Given the description of an element on the screen output the (x, y) to click on. 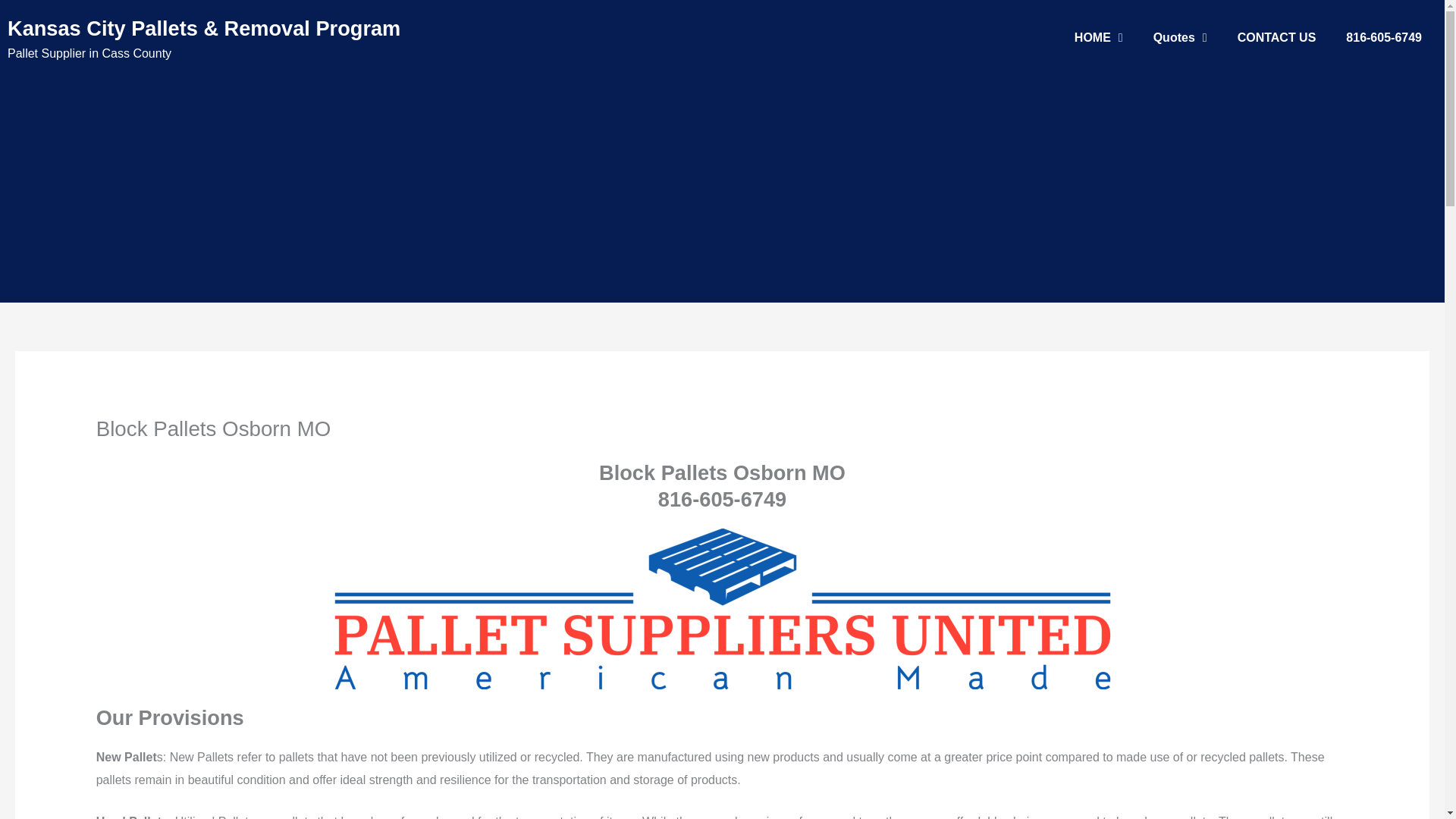
816-605-6749 (1383, 37)
CONTACT US (1277, 37)
Quotes (1180, 37)
HOME (1098, 37)
